Given the description of an element on the screen output the (x, y) to click on. 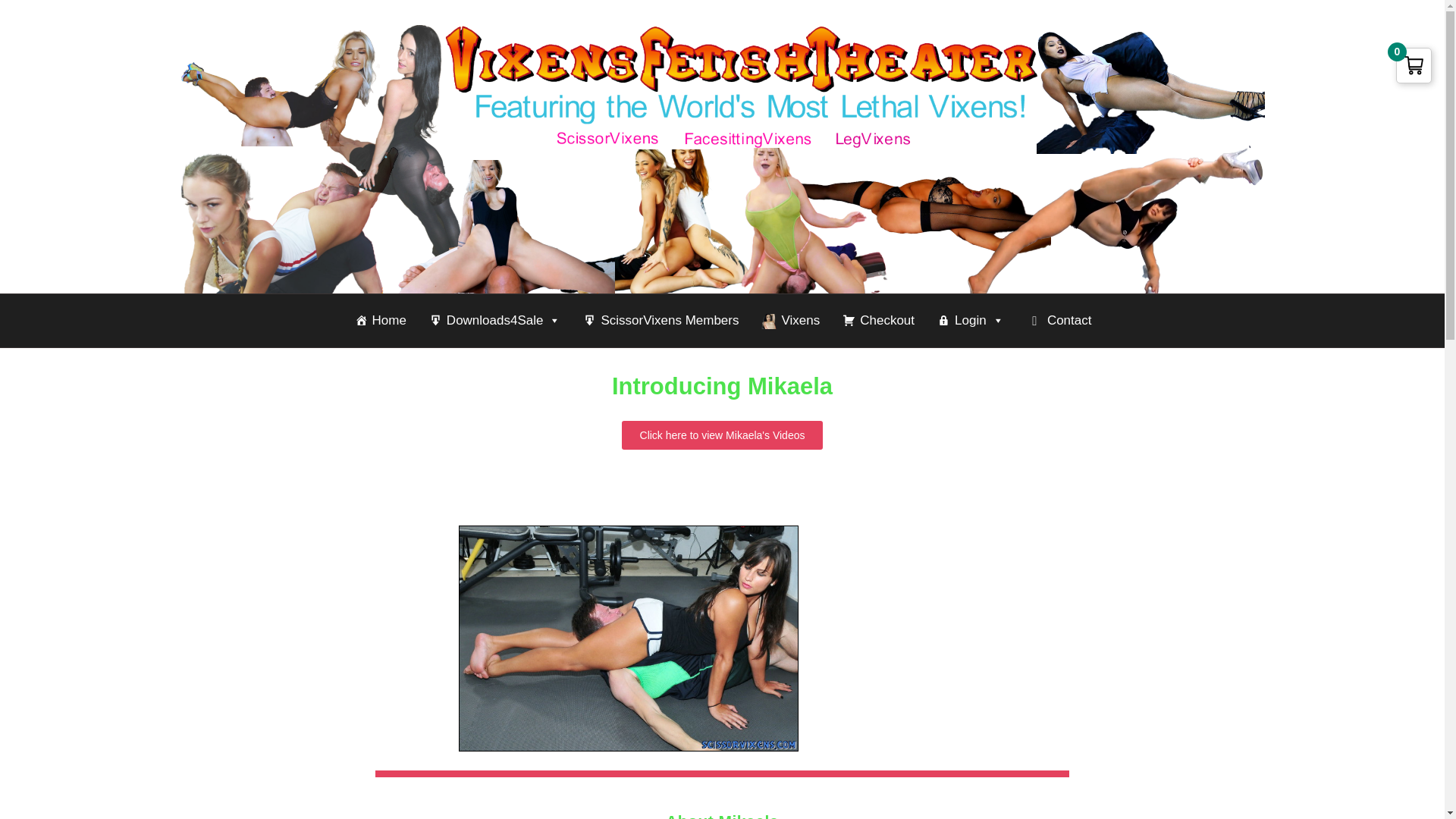
Home (380, 320)
Downloads4Sale (495, 320)
Login (970, 320)
Checkout (877, 320)
Contact (1059, 320)
ScissorVixens Members (660, 320)
Click here to view Mikaela's Videos (722, 434)
Vixens (790, 320)
